Given the description of an element on the screen output the (x, y) to click on. 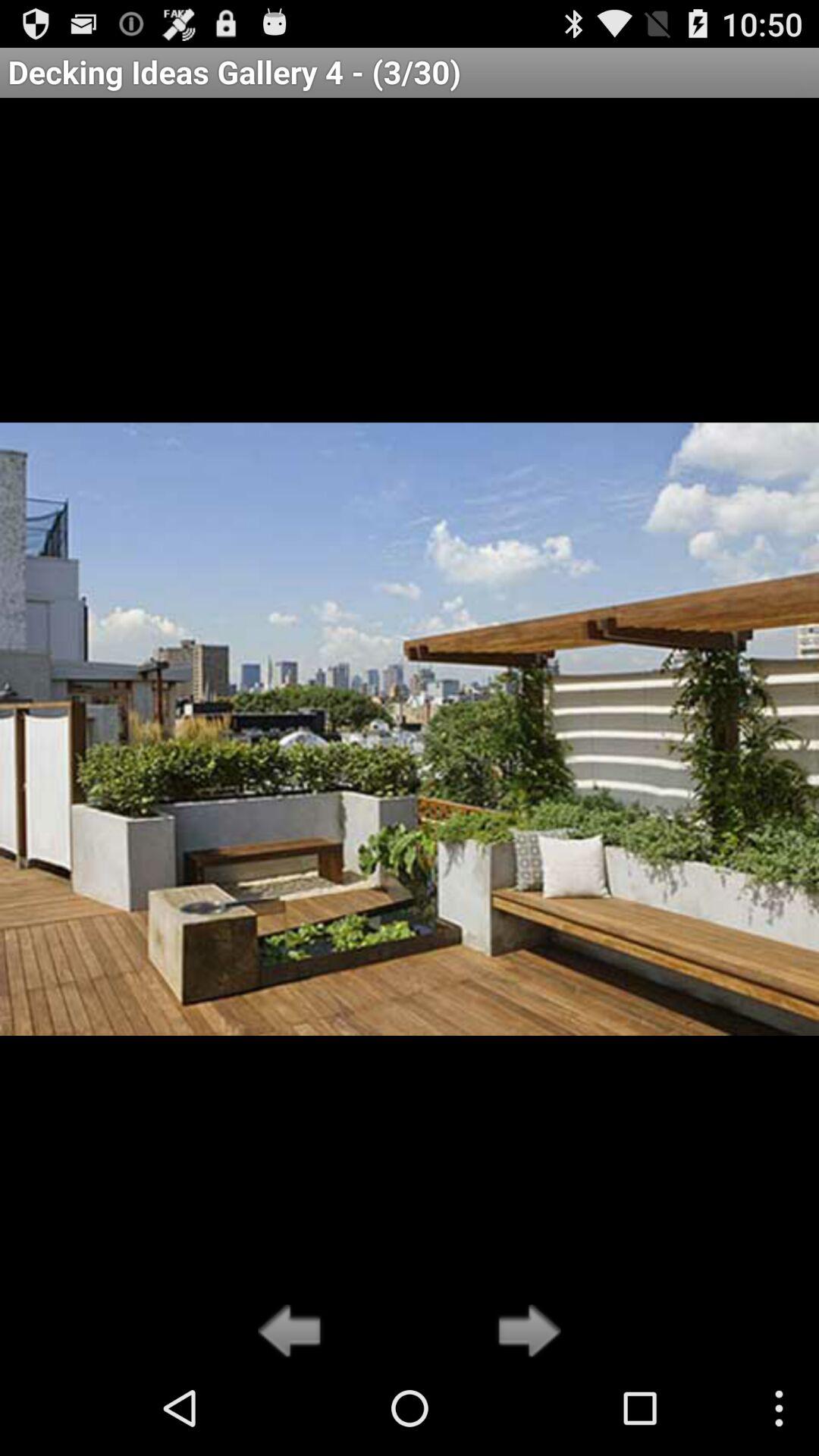
previous photo (293, 1332)
